Given the description of an element on the screen output the (x, y) to click on. 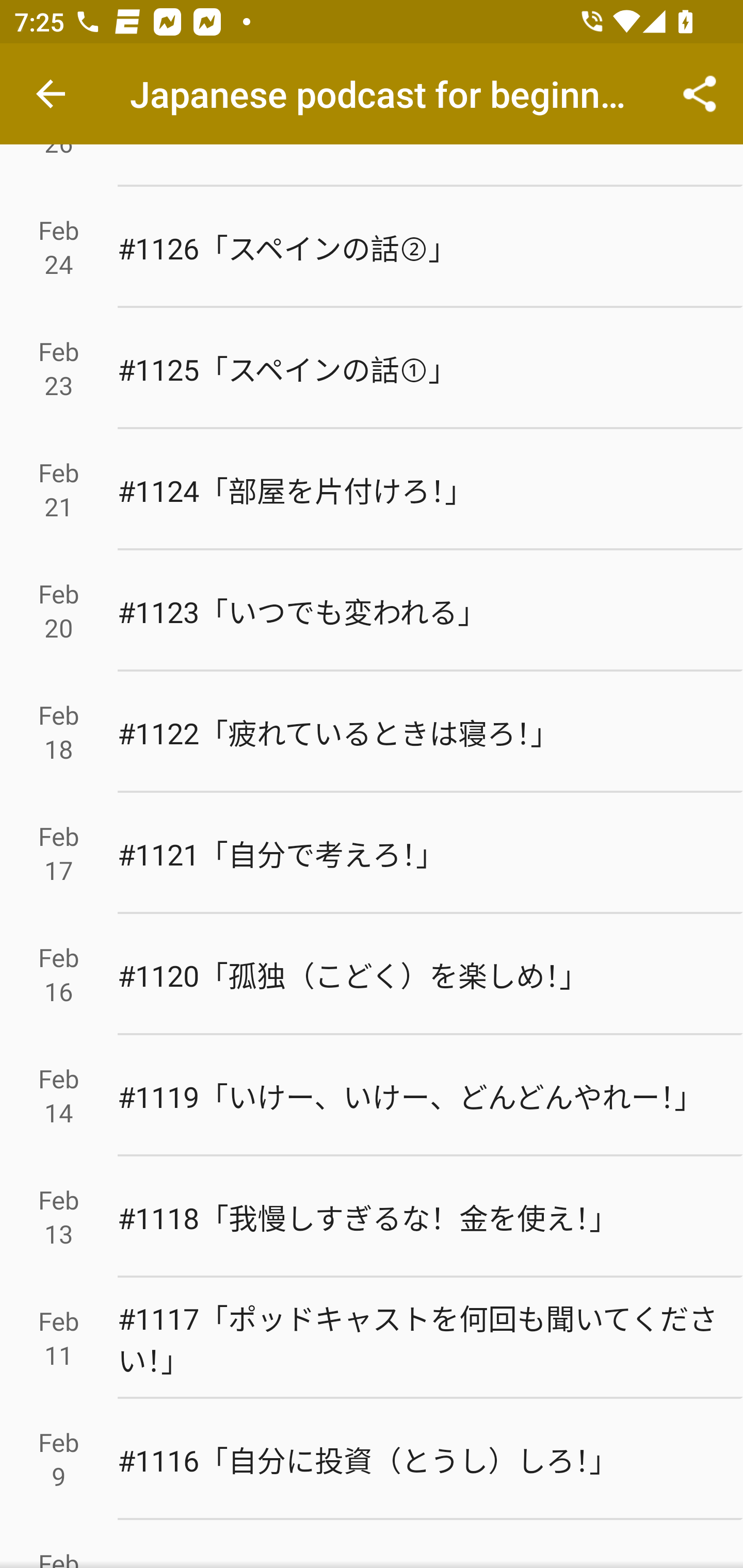
Navigate up (50, 93)
Share... (699, 93)
Feb 24 #1126「スペインの話②」 (371, 246)
Feb 23 #1125「スペインの話①」 (371, 368)
Feb 21 #1124「部屋を片付けろ！」 (371, 489)
Feb 20 #1123「いつでも変われる」 (371, 610)
Feb 18 #1122「疲れているときは寝ろ！」 (371, 732)
Feb 17 #1121「自分で考えろ！」 (371, 853)
Feb 16 #1120「孤独（こどく）を楽しめ！」 (371, 974)
Feb 14 #1119「いけー、いけー、どんどんやれー！」 (371, 1095)
Feb 13 #1118「我慢しすぎるな！金を使え！」 (371, 1217)
Feb 11 #1117「ポッドキャストを何回も聞いてください！」 (371, 1337)
Feb 9 #1116「自分に投資（とうし）しろ！」 (371, 1458)
